Given the description of an element on the screen output the (x, y) to click on. 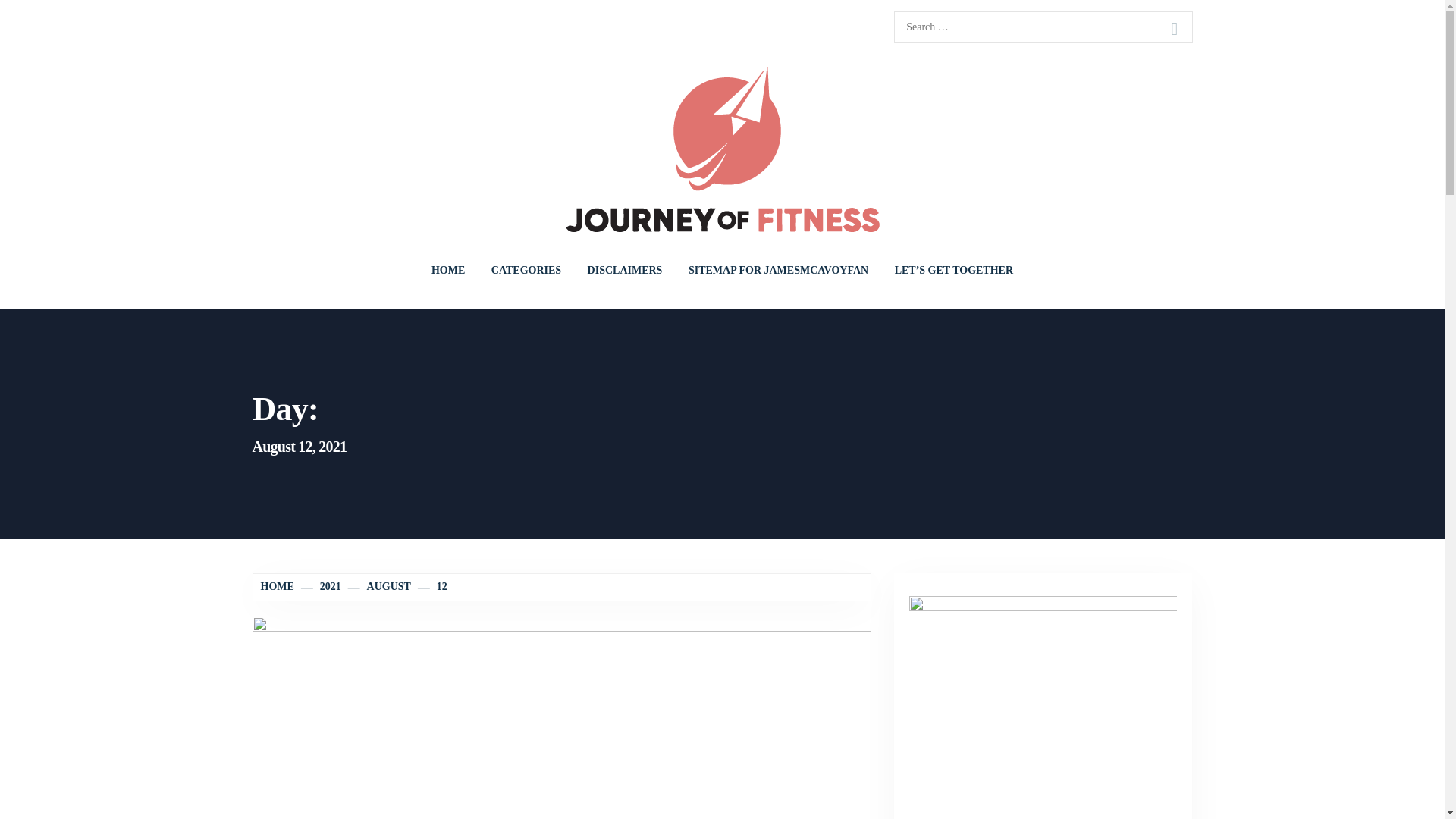
2021 (322, 586)
Search (1174, 28)
CATEGORIES (526, 270)
Search (1174, 28)
DISCLAIMERS (625, 270)
HOME (279, 586)
12 (432, 586)
Search (1174, 28)
AUGUST (380, 586)
HOME (448, 270)
SITEMAP FOR JAMESMCAVOYFAN (778, 270)
